Given the description of an element on the screen output the (x, y) to click on. 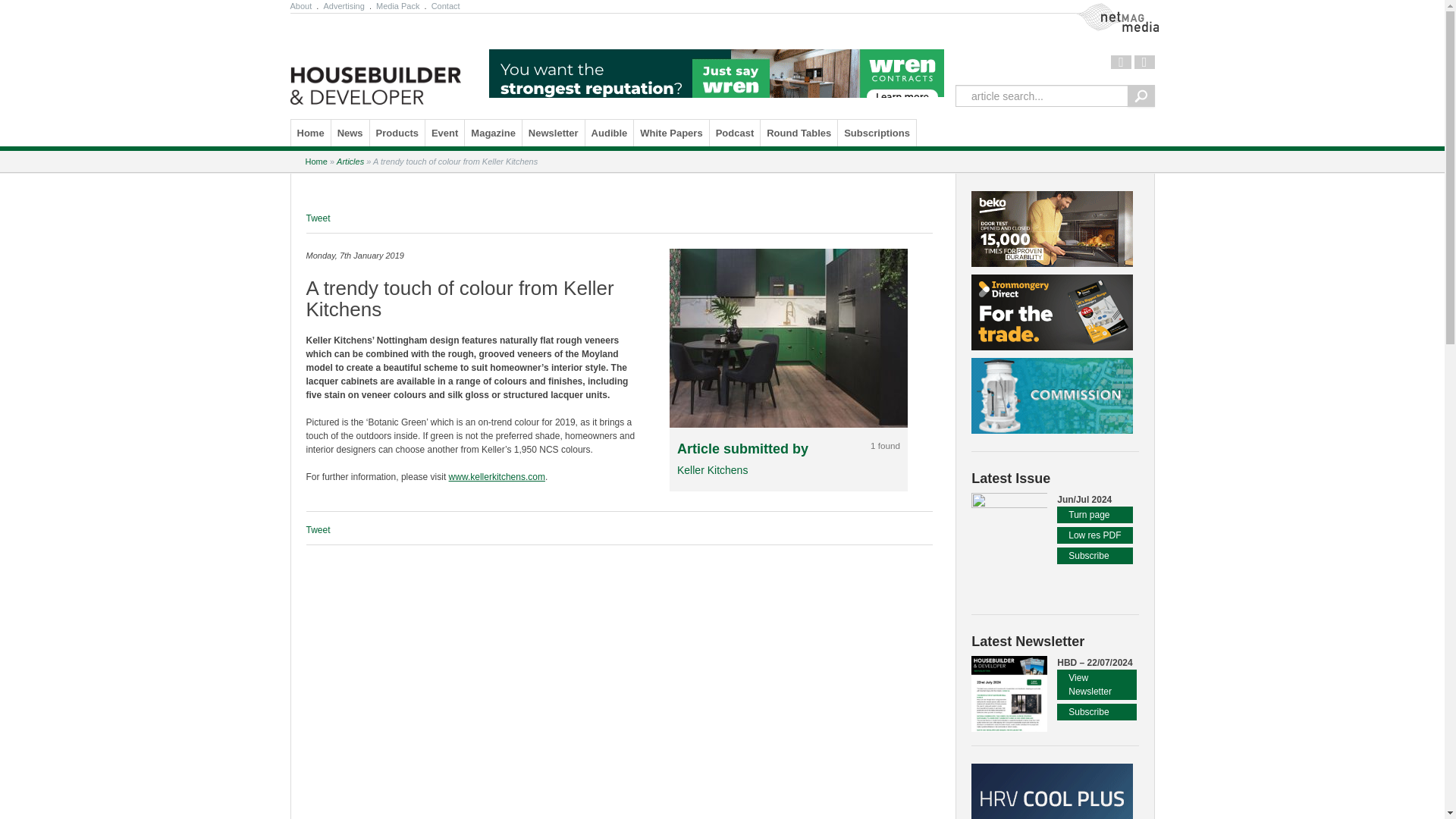
Products (397, 132)
Subscriptions (876, 132)
White Papers (670, 132)
Skip to content (330, 131)
About (301, 6)
Home (315, 161)
Advertising (343, 6)
Magazine (492, 132)
Newsletter (553, 132)
Contact (446, 6)
